Given the description of an element on the screen output the (x, y) to click on. 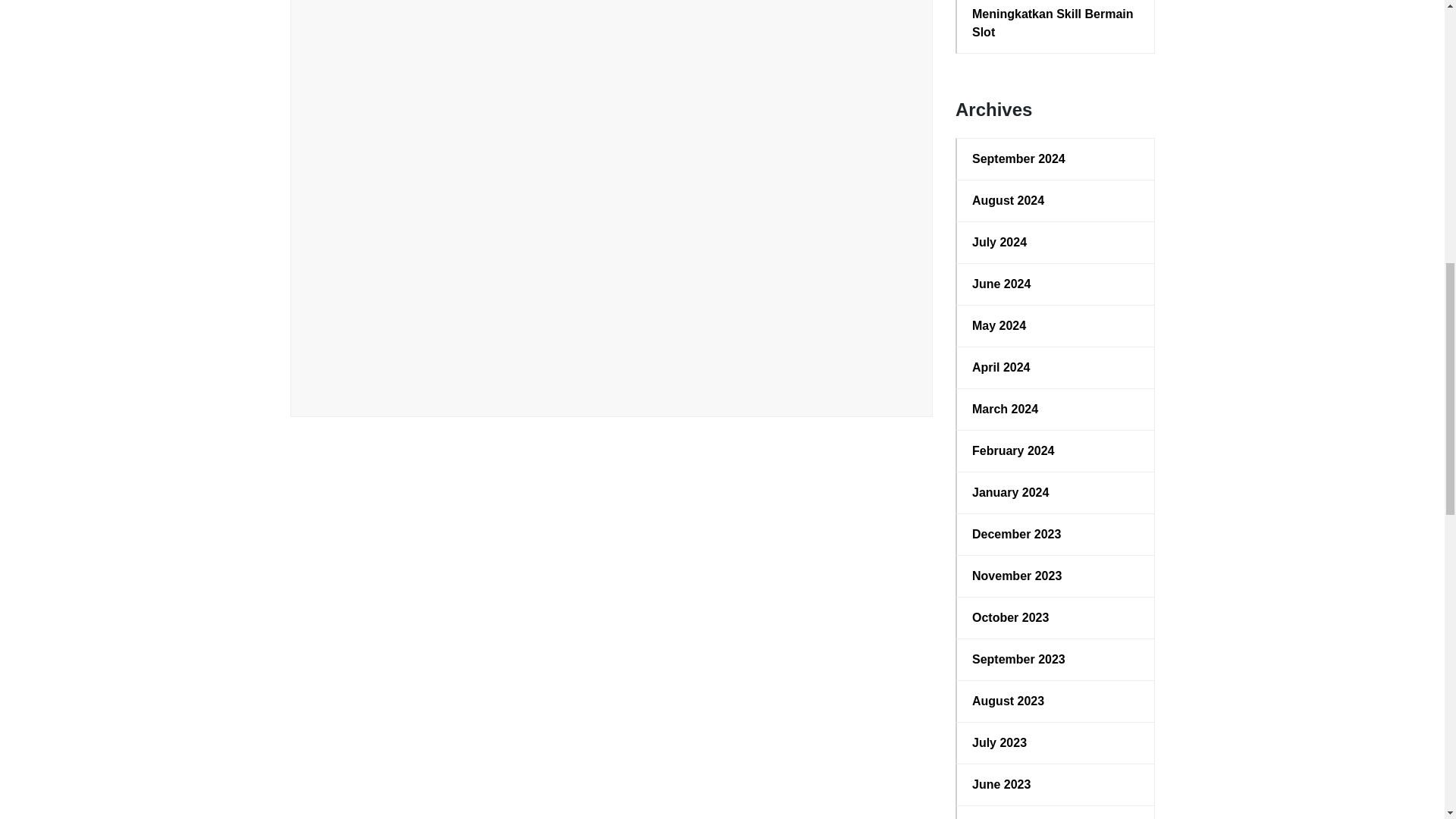
May 2024 (1055, 325)
July 2023 (1055, 742)
June 2023 (1055, 784)
August 2023 (1055, 701)
October 2023 (1055, 618)
August 2024 (1055, 200)
embraceaustralia (399, 376)
July 2024 (1055, 242)
December 2023 (1055, 534)
